Given the description of an element on the screen output the (x, y) to click on. 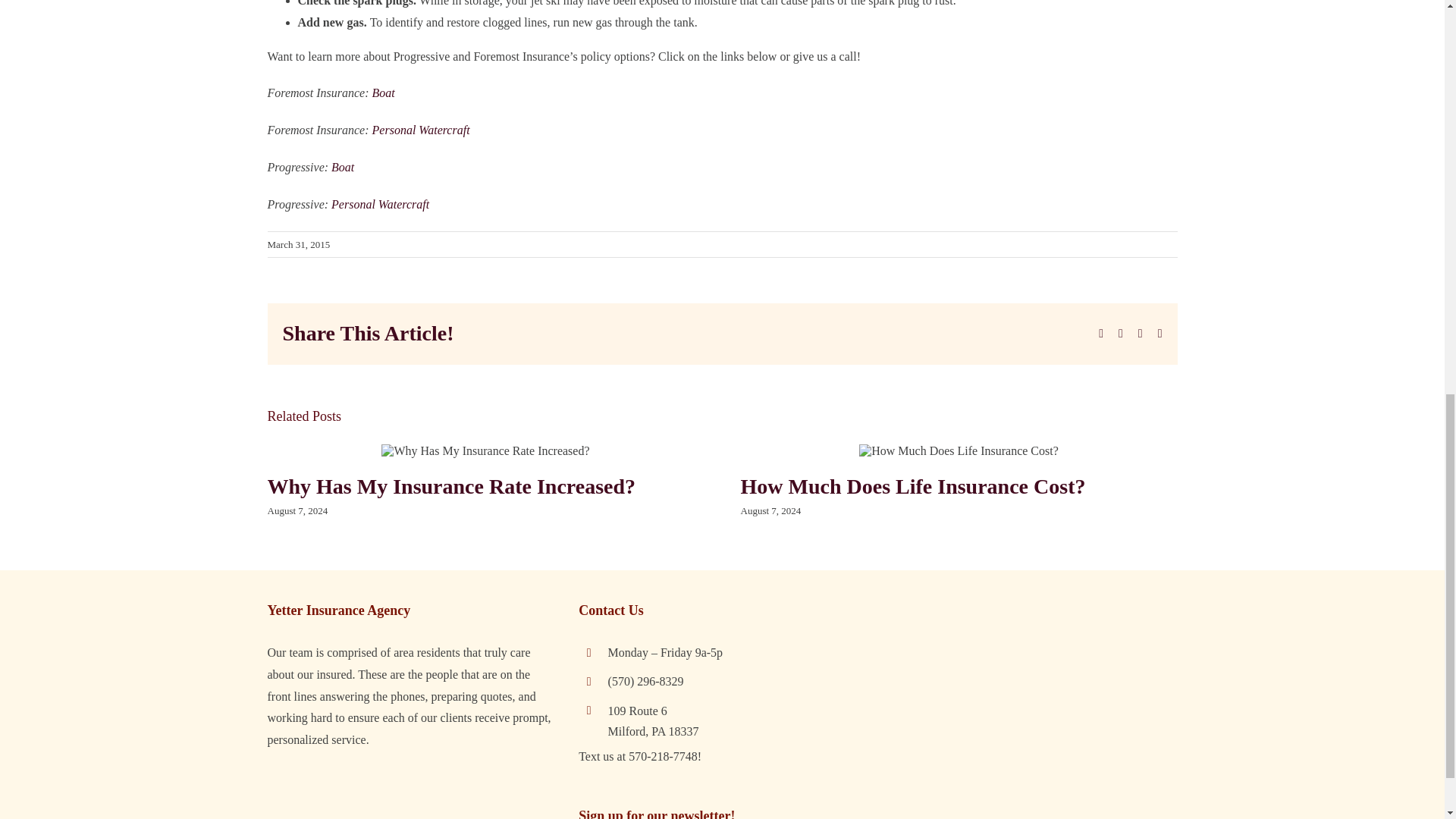
Why Has My Insurance Rate Increased? (450, 486)
How Much Does Life Insurance Cost? (911, 486)
Personal Watercraft (380, 204)
Personal Watercraft (421, 129)
Boat (342, 166)
Boat  (384, 92)
